Given the description of an element on the screen output the (x, y) to click on. 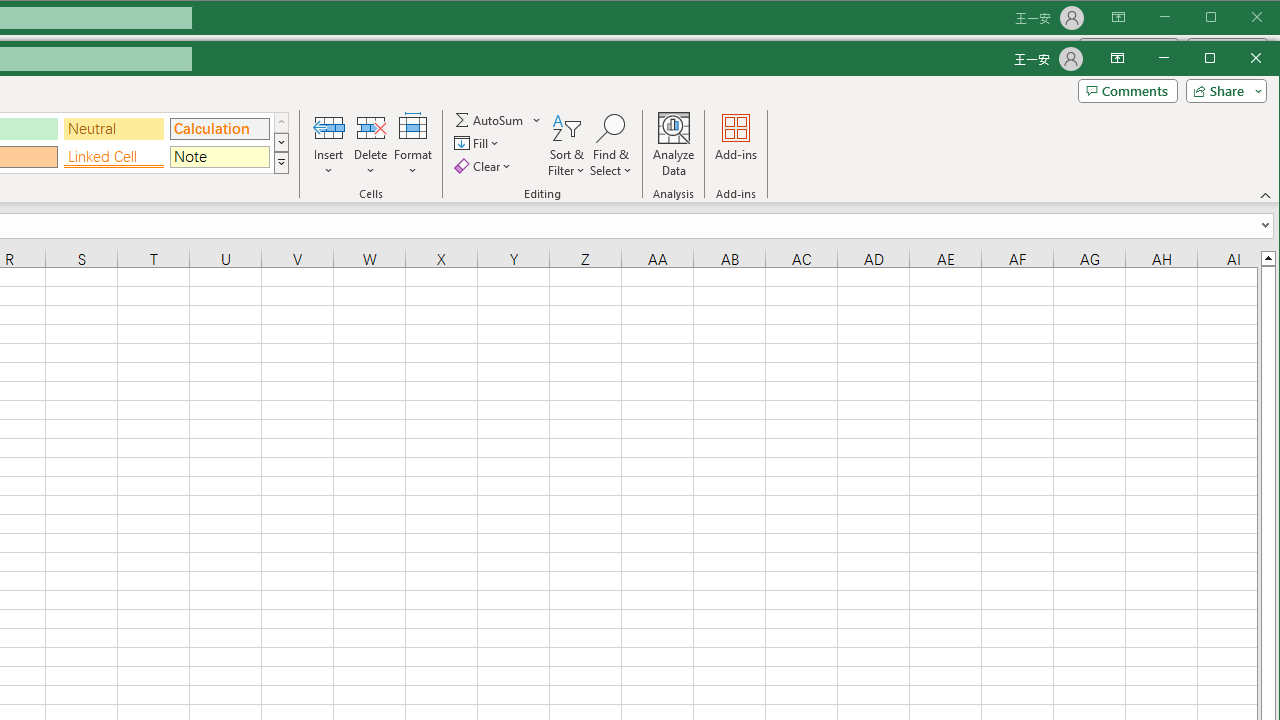
Analyze Data (674, 145)
Line up (1268, 257)
Note (219, 157)
Cell Styles (281, 162)
Find & Select (610, 145)
Clear (484, 165)
Sum (489, 119)
Ribbon Display Options (1117, 58)
Linked Cell (113, 157)
Row Down (281, 142)
Close (1261, 60)
Share (1222, 90)
Calculation (219, 129)
Sort & Filter (566, 145)
Format (413, 145)
